Given the description of an element on the screen output the (x, y) to click on. 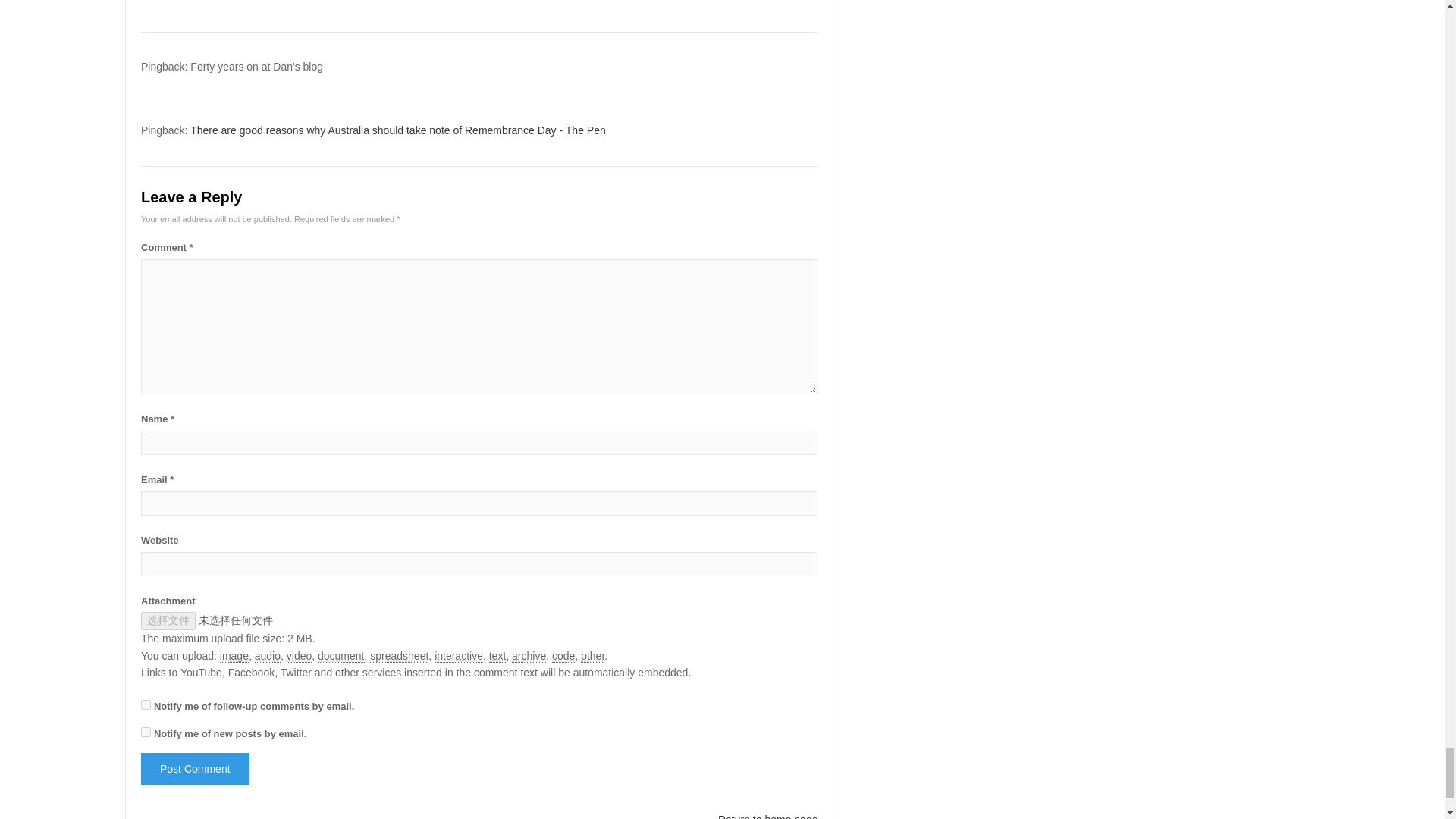
subscribe (146, 705)
Post Comment (194, 768)
subscribe (146, 732)
